Given the description of an element on the screen output the (x, y) to click on. 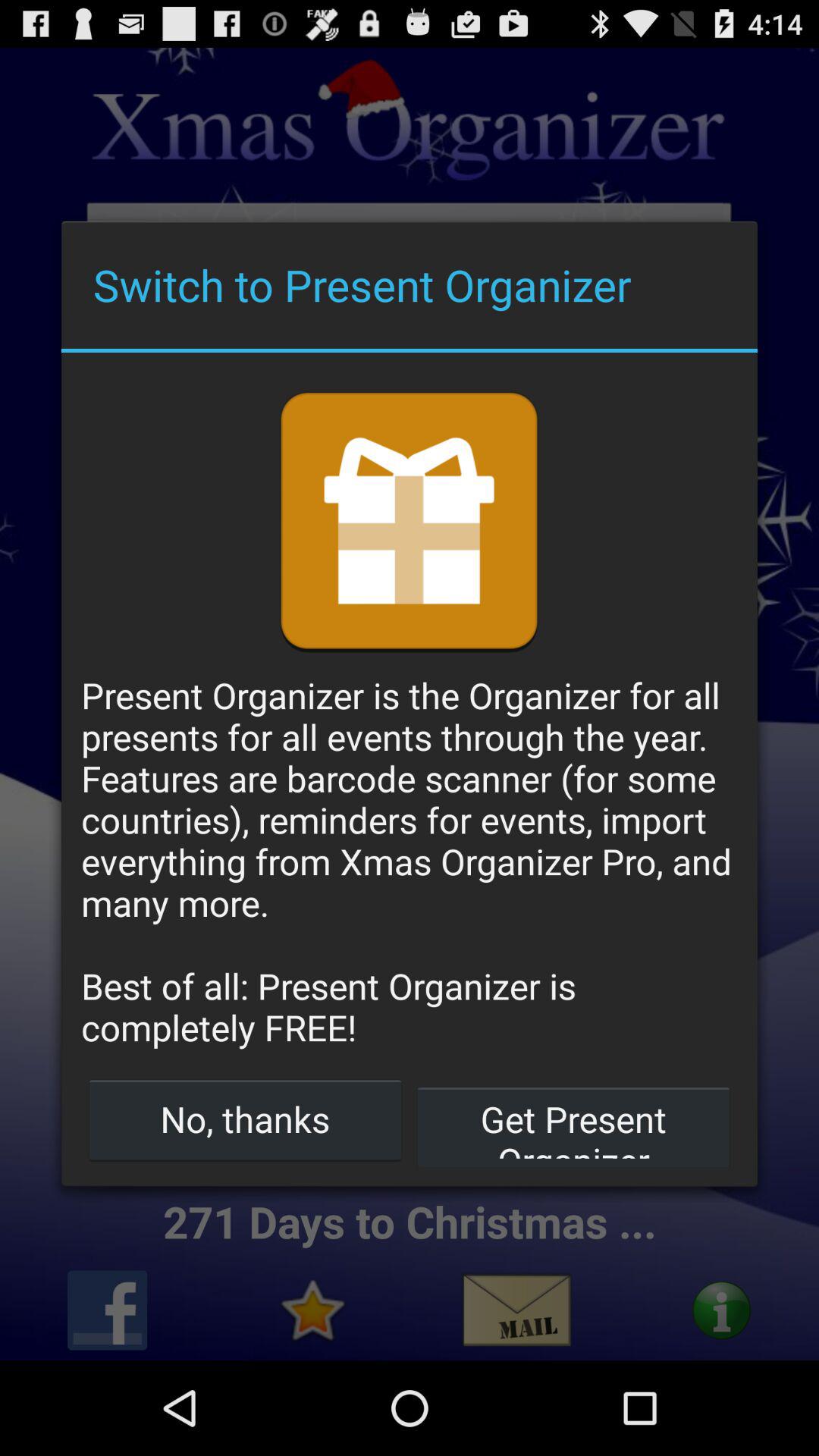
launch button next to the get present organizer item (245, 1119)
